Given the description of an element on the screen output the (x, y) to click on. 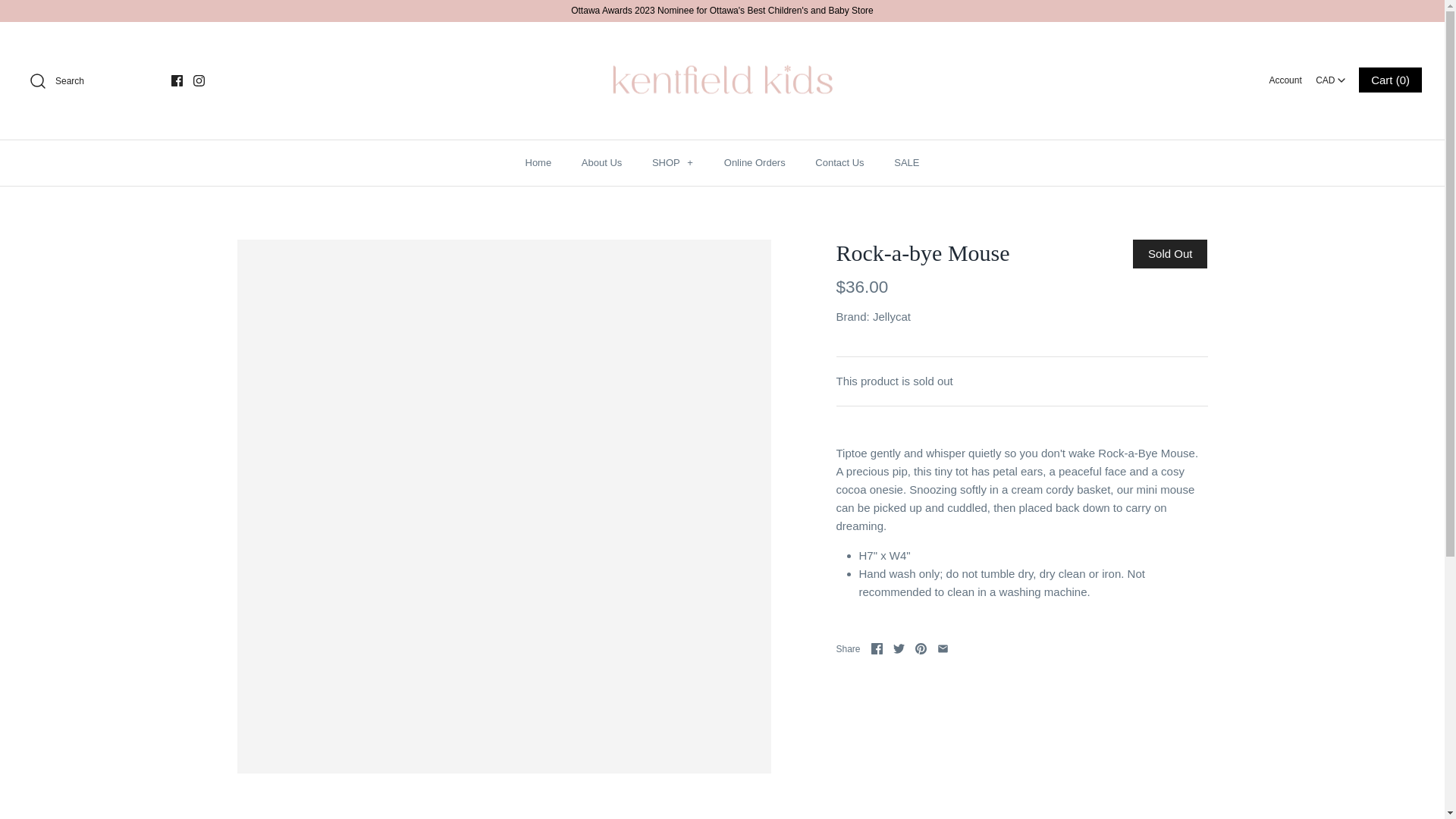
Twitter (898, 648)
Home (537, 162)
Share using email (943, 648)
Share on Facebook (876, 648)
Instagram (199, 80)
About Us (600, 162)
Pinterest (920, 648)
Facebook (177, 80)
Email (943, 648)
Facebook (177, 80)
